Given the description of an element on the screen output the (x, y) to click on. 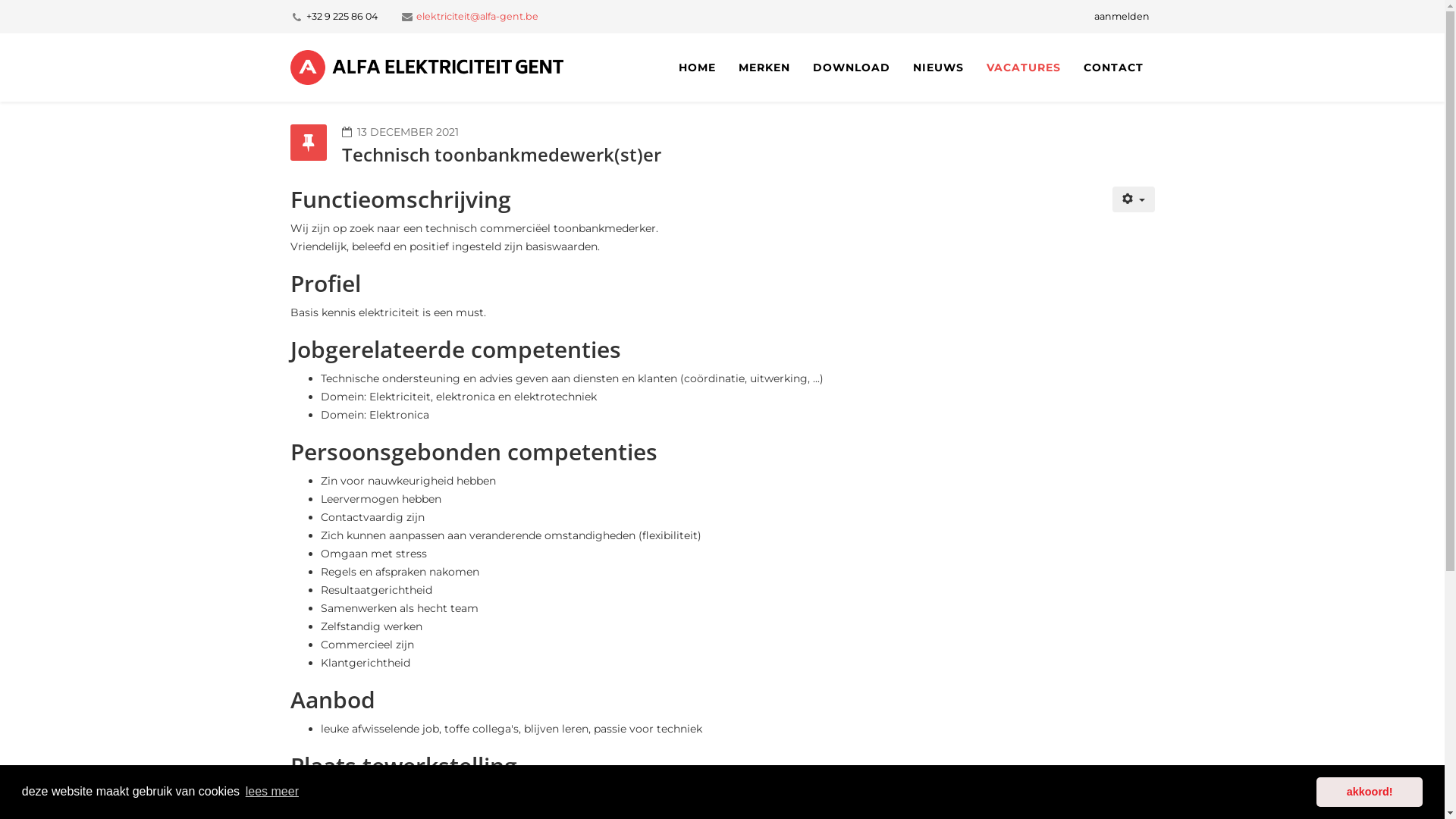
DOWNLOAD Element type: text (850, 67)
HOME Element type: text (697, 67)
NIEUWS Element type: text (937, 67)
elektriciteit@alfa-gent.be Element type: text (476, 15)
aanmelden Element type: text (1120, 16)
CONTACT Element type: text (1113, 67)
elektriciteit@alfa-gent.be Element type: text (476, 16)
lees meer Element type: text (272, 791)
VACATURES Element type: text (1023, 67)
akkoord! Element type: text (1369, 791)
MERKEN Element type: text (763, 67)
+32 9 225 86 04 Element type: text (341, 16)
